Given the description of an element on the screen output the (x, y) to click on. 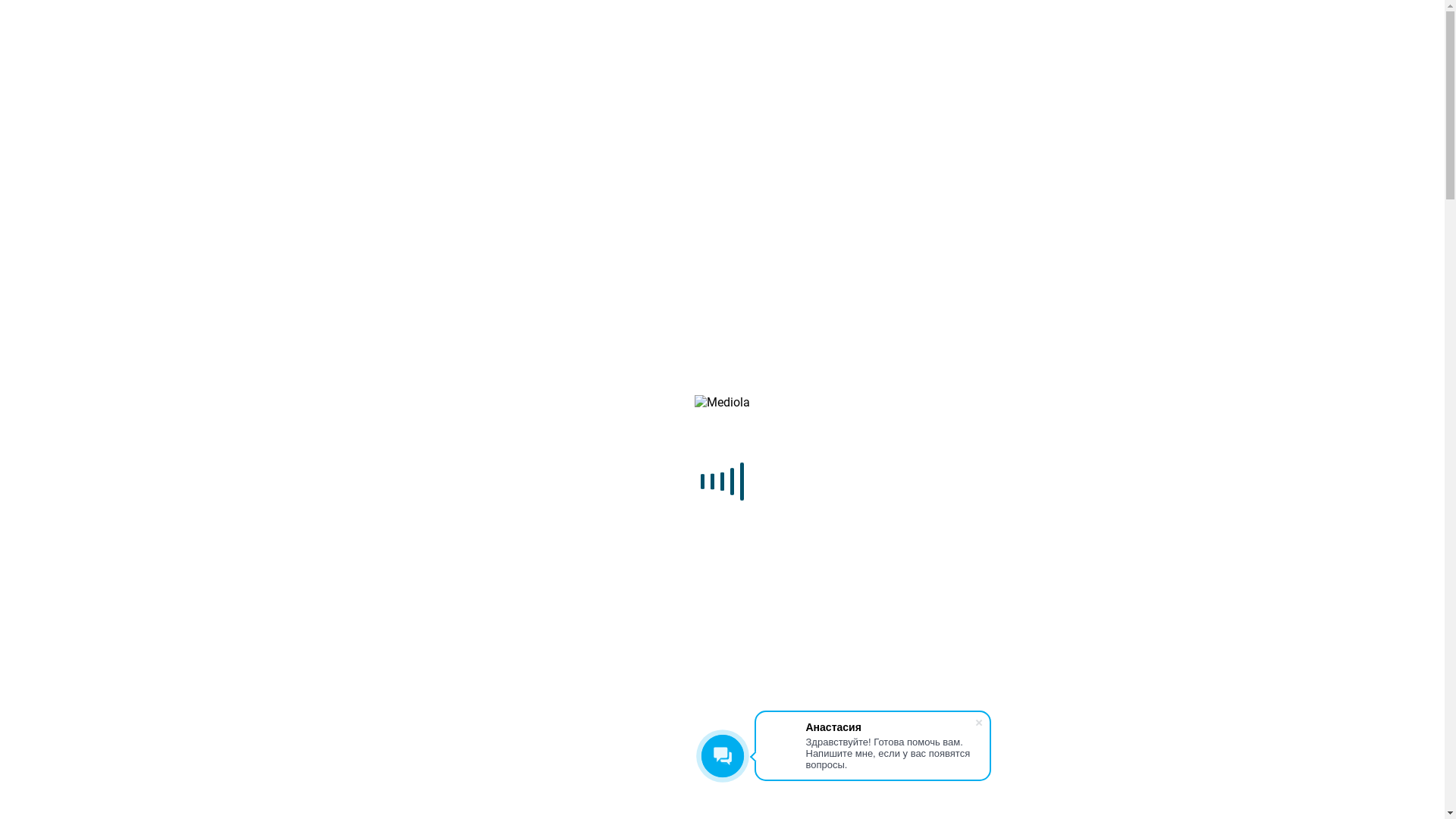
EN Element type: text (51, 155)
Mediola Element type: hover (722, 344)
EN Element type: text (51, 531)
RU Element type: text (21, 155)
RU Element type: text (21, 531)
